Given the description of an element on the screen output the (x, y) to click on. 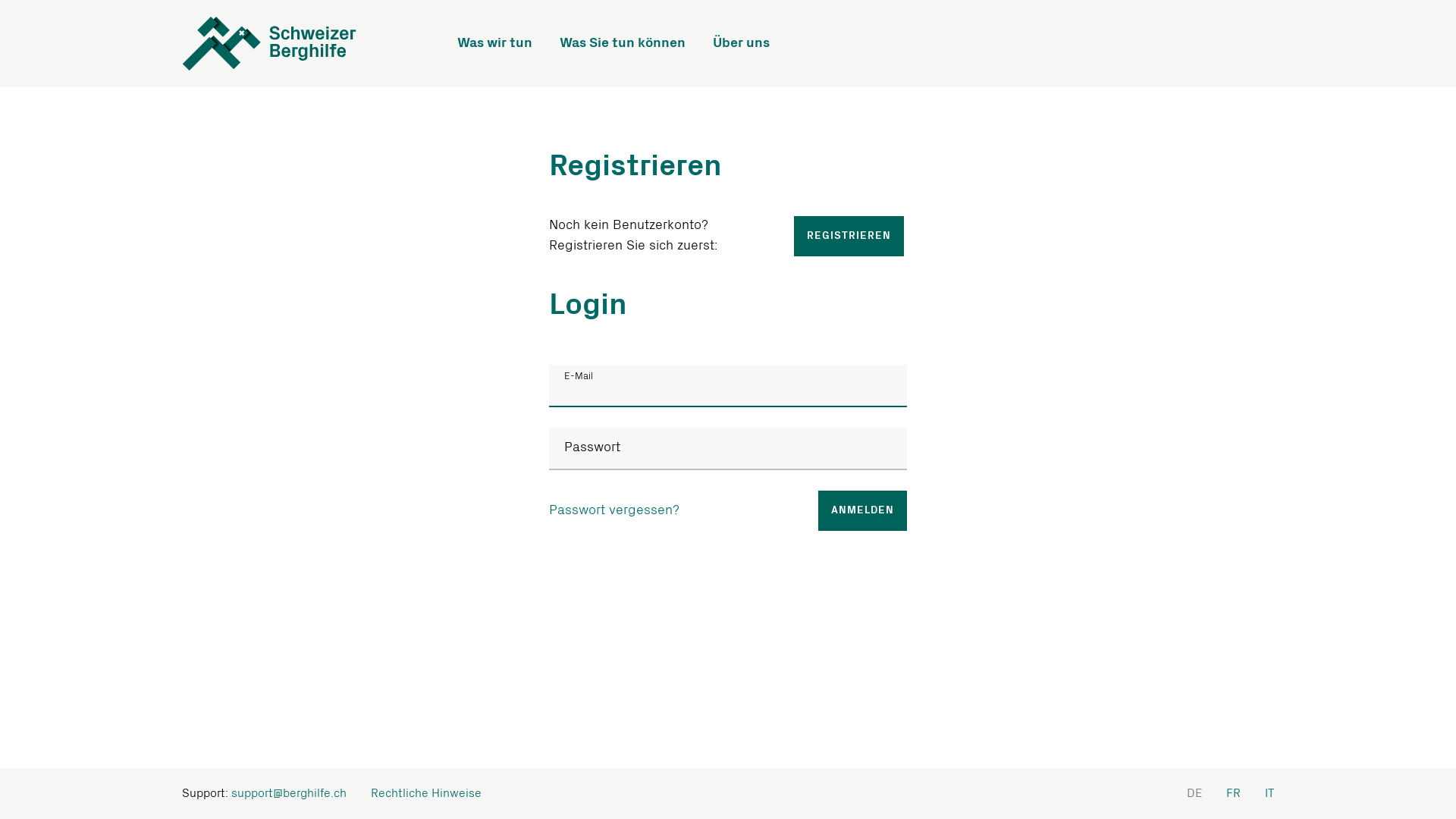
Passwort vergessen? Element type: text (614, 510)
Was wir tun Element type: text (494, 43)
FR Element type: text (1233, 793)
REGISTRIEREN Element type: text (848, 236)
Rechtliche Hinweise Element type: text (425, 793)
DE Element type: text (1193, 793)
IT Element type: text (1269, 793)
support@berghilfe.ch Element type: text (288, 793)
ANMELDEN Element type: text (862, 510)
